Given the description of an element on the screen output the (x, y) to click on. 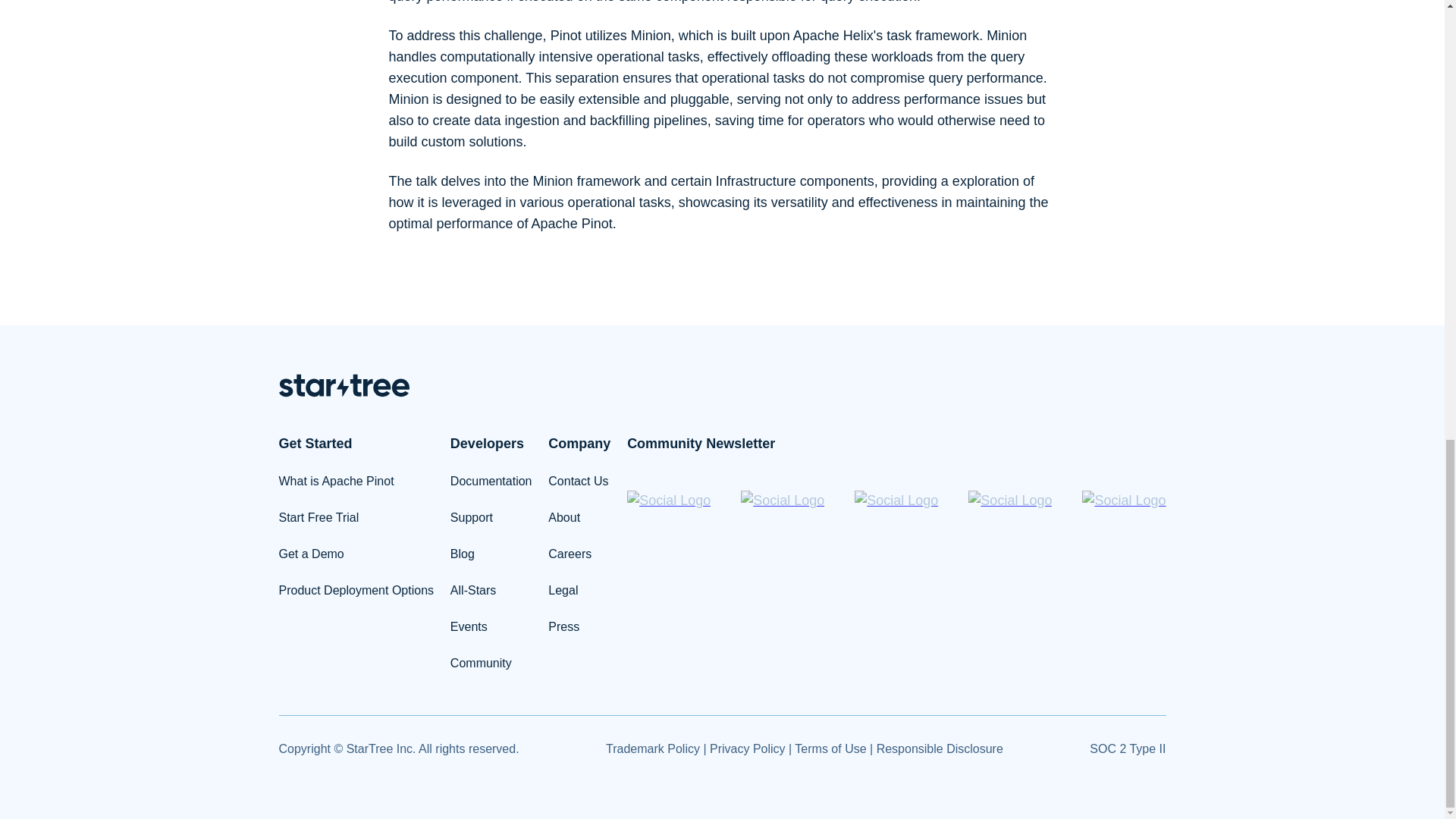
Support (471, 517)
About (563, 517)
Get a Demo (311, 553)
Start Free Trial (319, 517)
What is Apache Pinot (336, 481)
Community (480, 662)
StarTree Trademark Policy (652, 748)
Documentation (490, 481)
All-Stars (472, 590)
Product Deployment Options (356, 590)
